Given the description of an element on the screen output the (x, y) to click on. 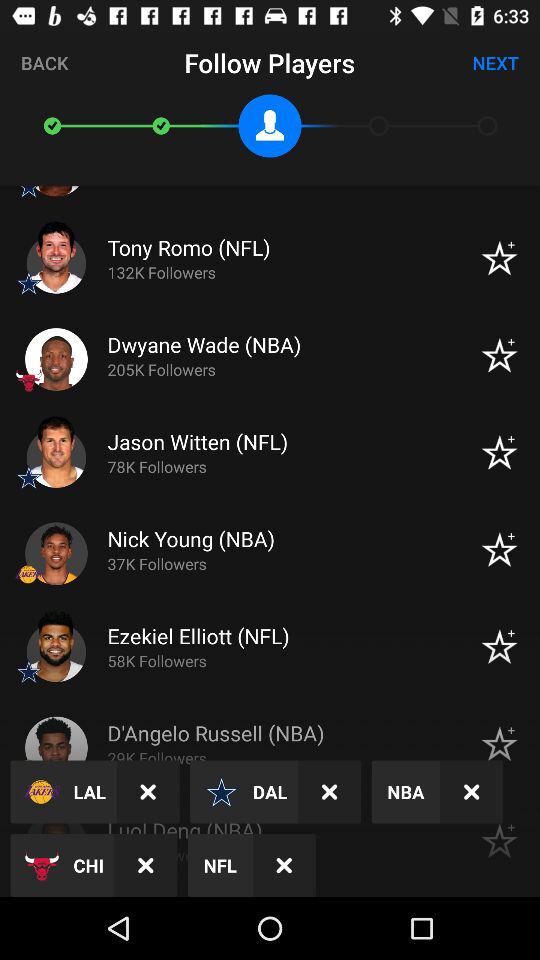
press icon above the chi (147, 791)
